Given the description of an element on the screen output the (x, y) to click on. 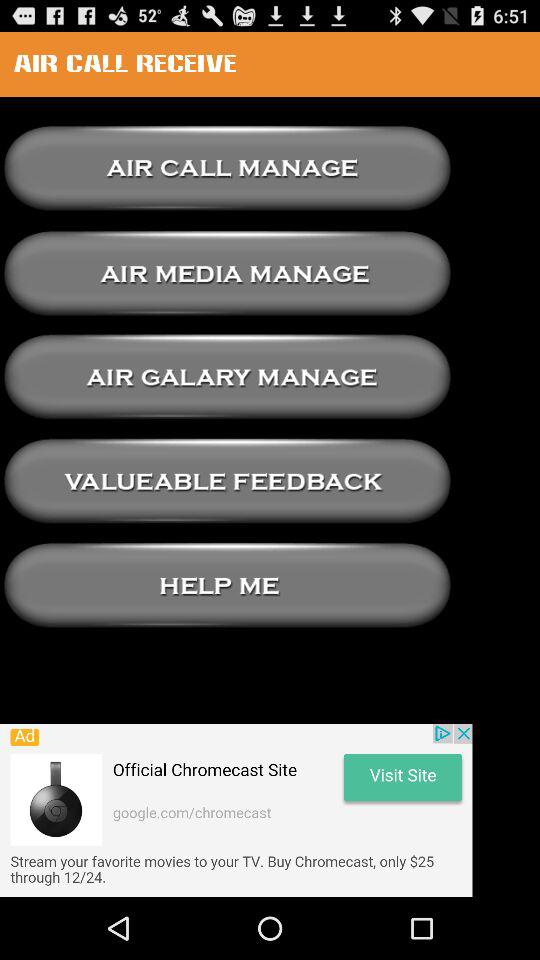
go to hlep pattern (227, 585)
